Given the description of an element on the screen output the (x, y) to click on. 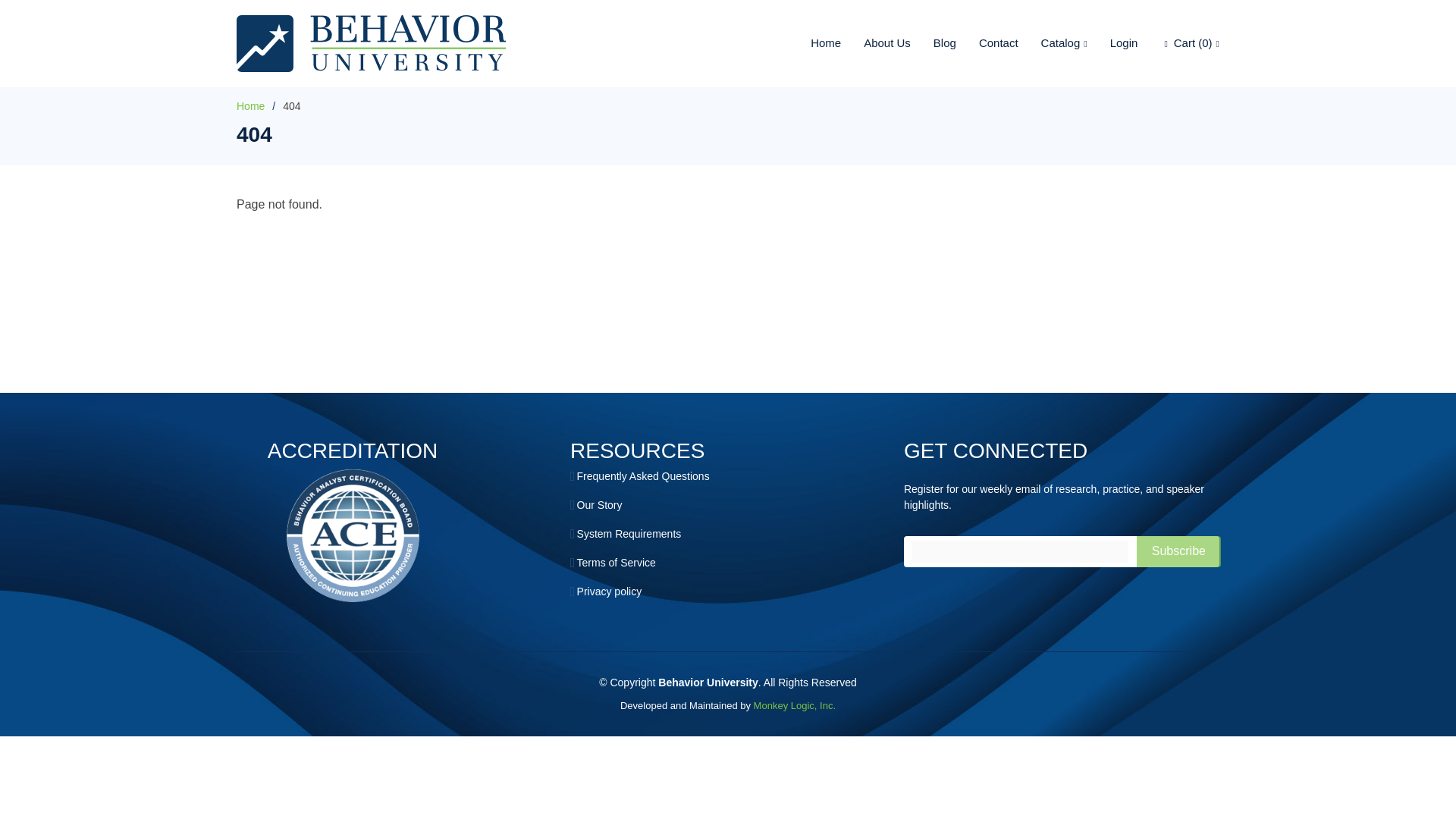
Home (249, 105)
Catalog (1052, 43)
Privacy policy (609, 591)
Contact (986, 43)
Our Story (599, 504)
Login (1112, 43)
Subscribe (1179, 551)
Blog (933, 43)
Home (814, 43)
About Us (876, 43)
Terms of Service (616, 562)
System Requirements (628, 533)
Frequently Asked Questions (643, 475)
